Given the description of an element on the screen output the (x, y) to click on. 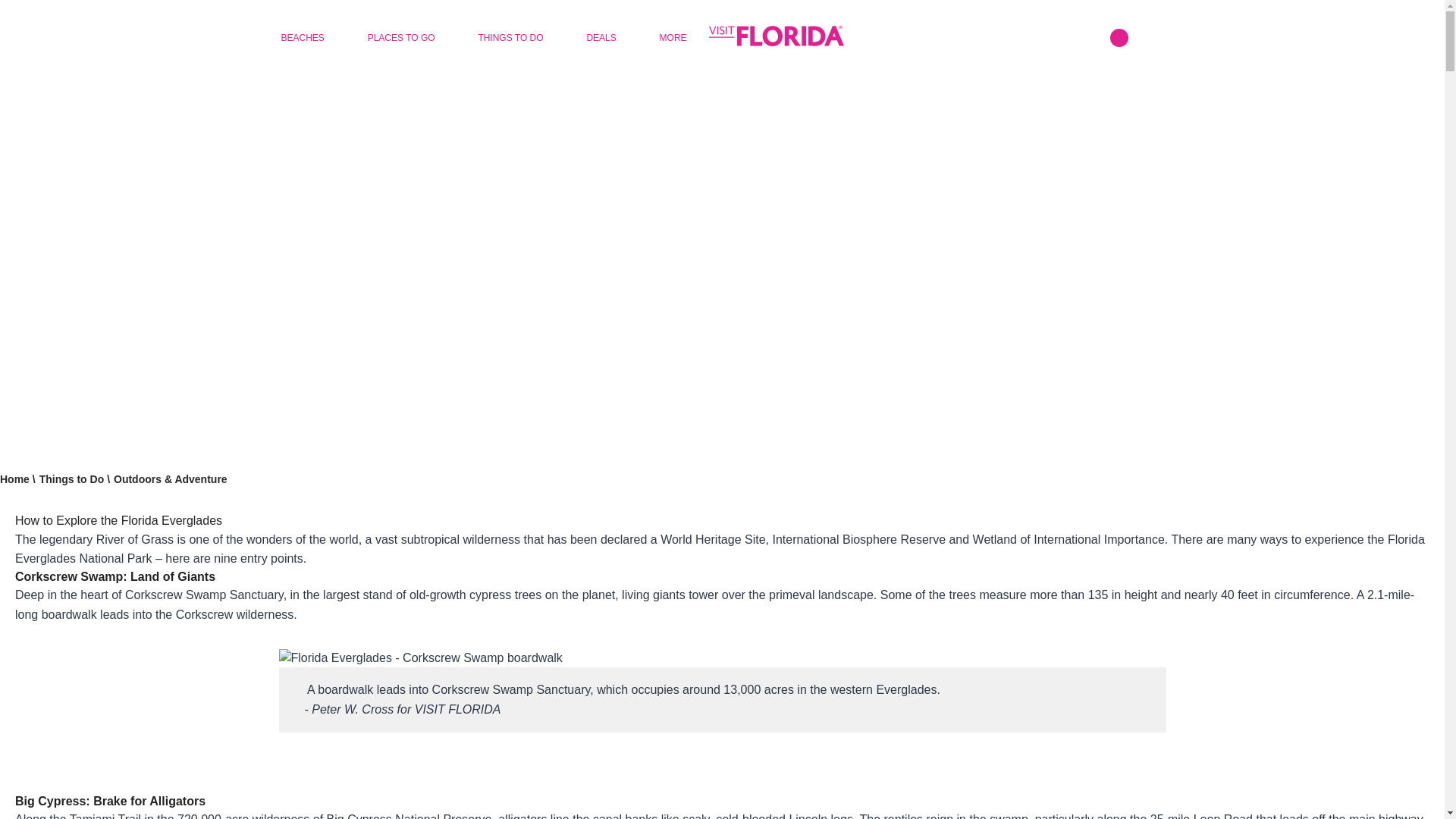
DEALS (600, 38)
MORE (672, 38)
THINGS TO DO (509, 38)
PLACES TO GO (400, 38)
BEACHES (301, 38)
